Given the description of an element on the screen output the (x, y) to click on. 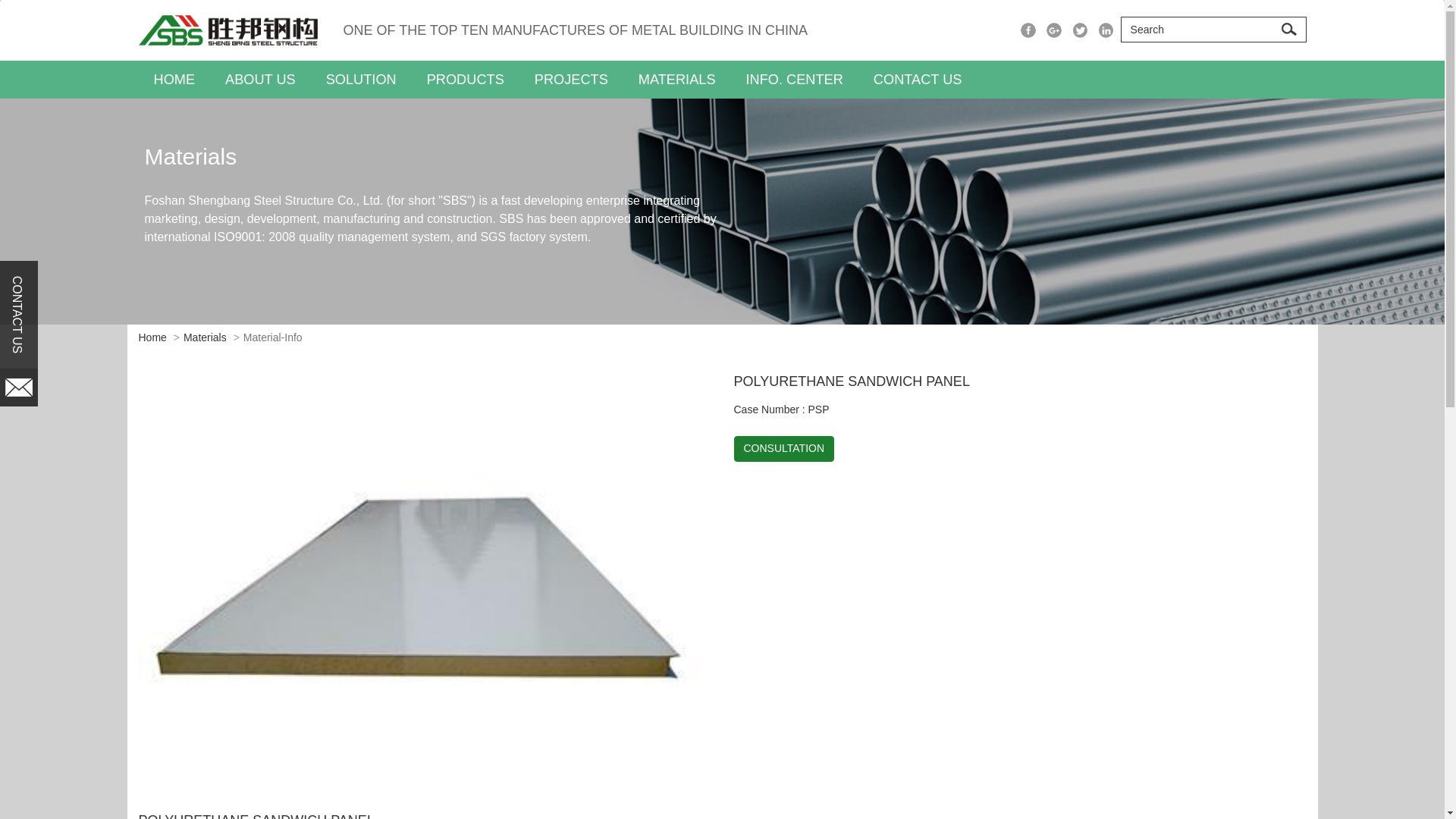
HOME (173, 79)
SOLUTION (361, 79)
PRODUCTS (465, 79)
Home (173, 79)
About Us (260, 79)
ABOUT US (260, 79)
Solution (361, 79)
Products (465, 79)
